Given the description of an element on the screen output the (x, y) to click on. 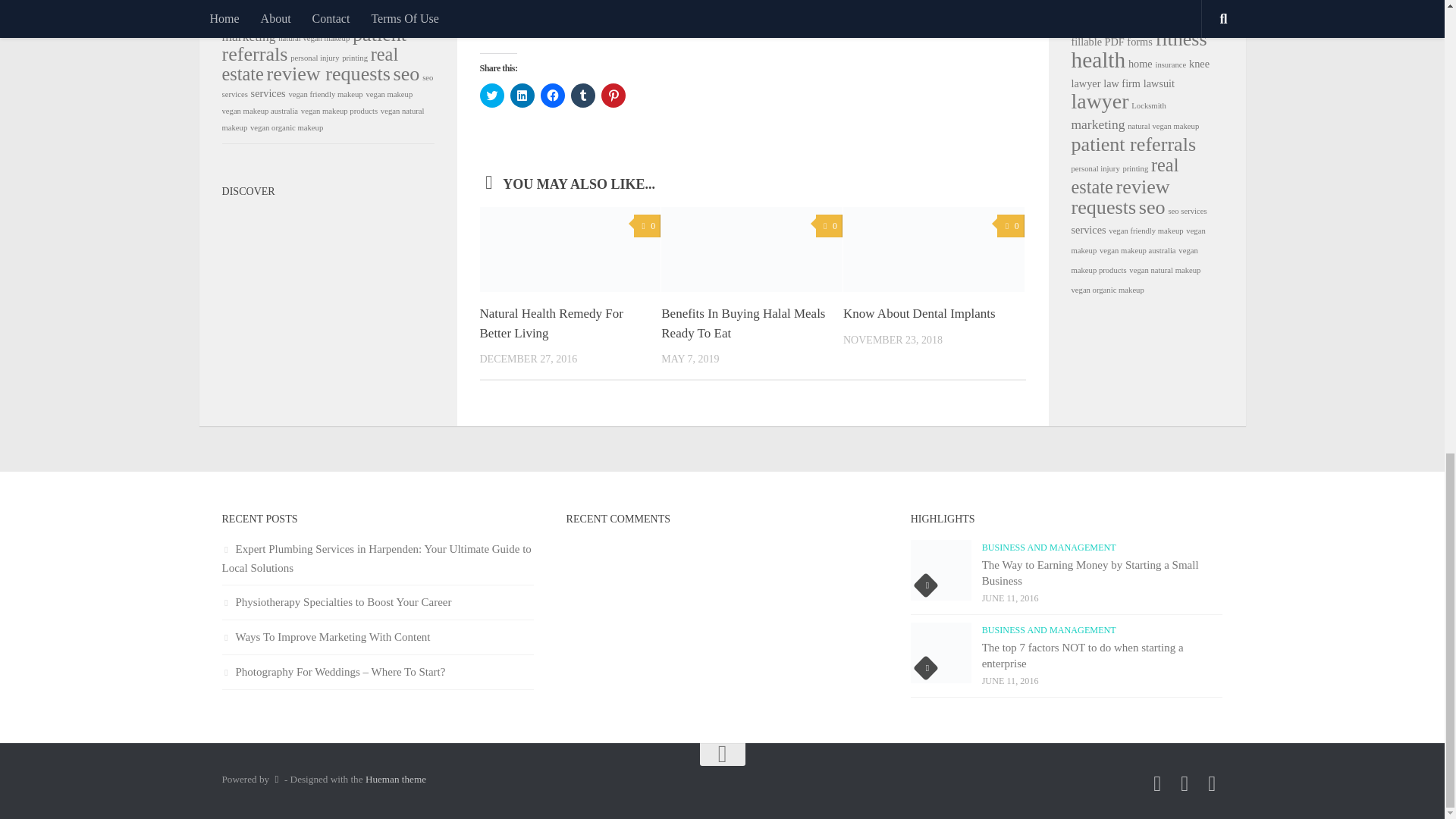
Click to share on Pinterest (611, 95)
Click to share on Twitter (491, 95)
Click to share on Facebook (552, 95)
0 (829, 226)
Natural Health Remedy For Better Living (551, 323)
Click to share on LinkedIn (521, 95)
0 (647, 226)
Click to share on Tumblr (582, 95)
